Given the description of an element on the screen output the (x, y) to click on. 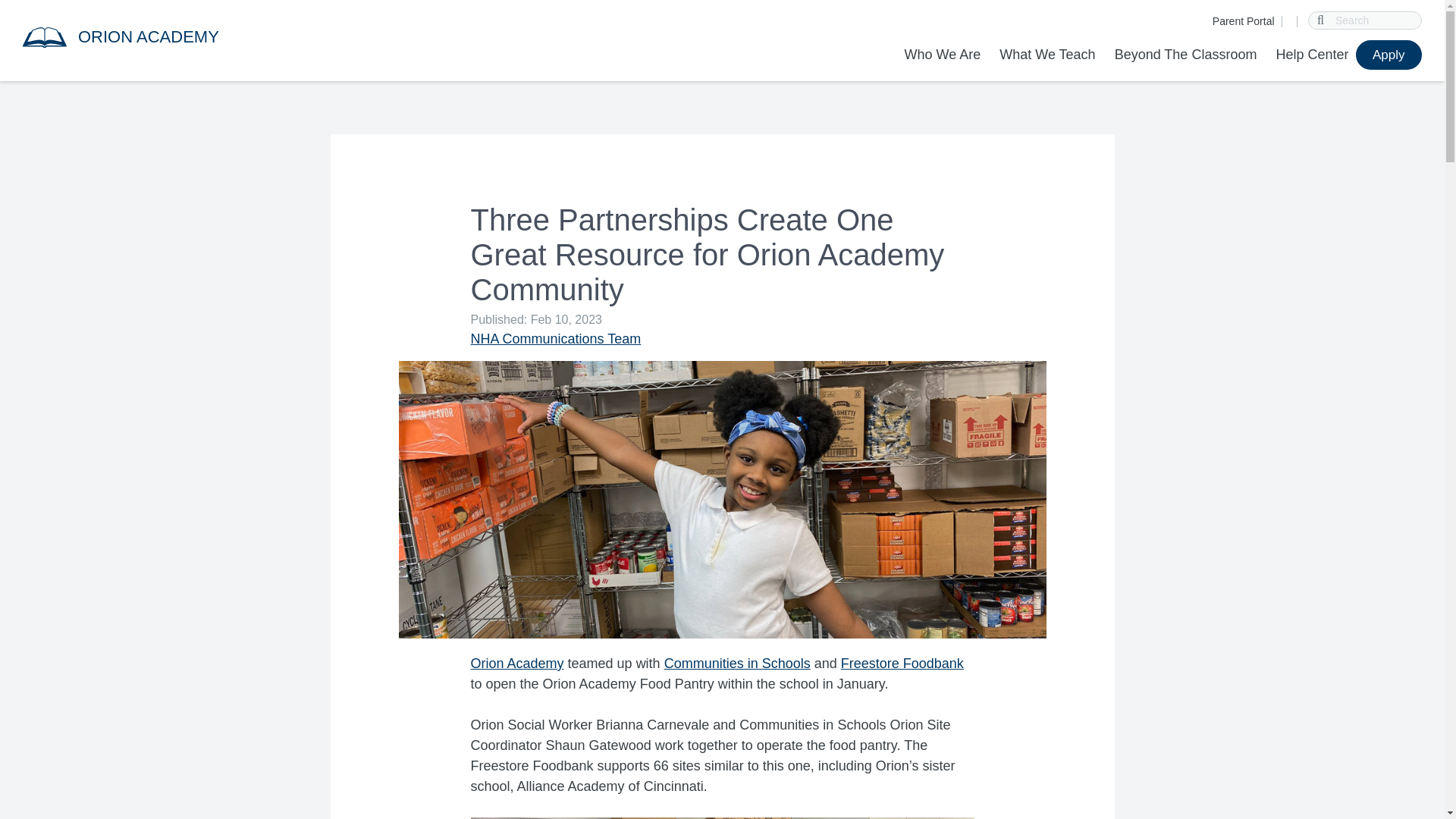
Who We Are (946, 54)
search (1321, 20)
Parent Portal (1243, 21)
ORION ACADEMY (138, 37)
search (1321, 20)
Apply (1388, 54)
What We Teach (1046, 54)
Help Center (1311, 54)
Beyond The Classroom (1185, 54)
NHA Communications Team (555, 338)
